Given the description of an element on the screen output the (x, y) to click on. 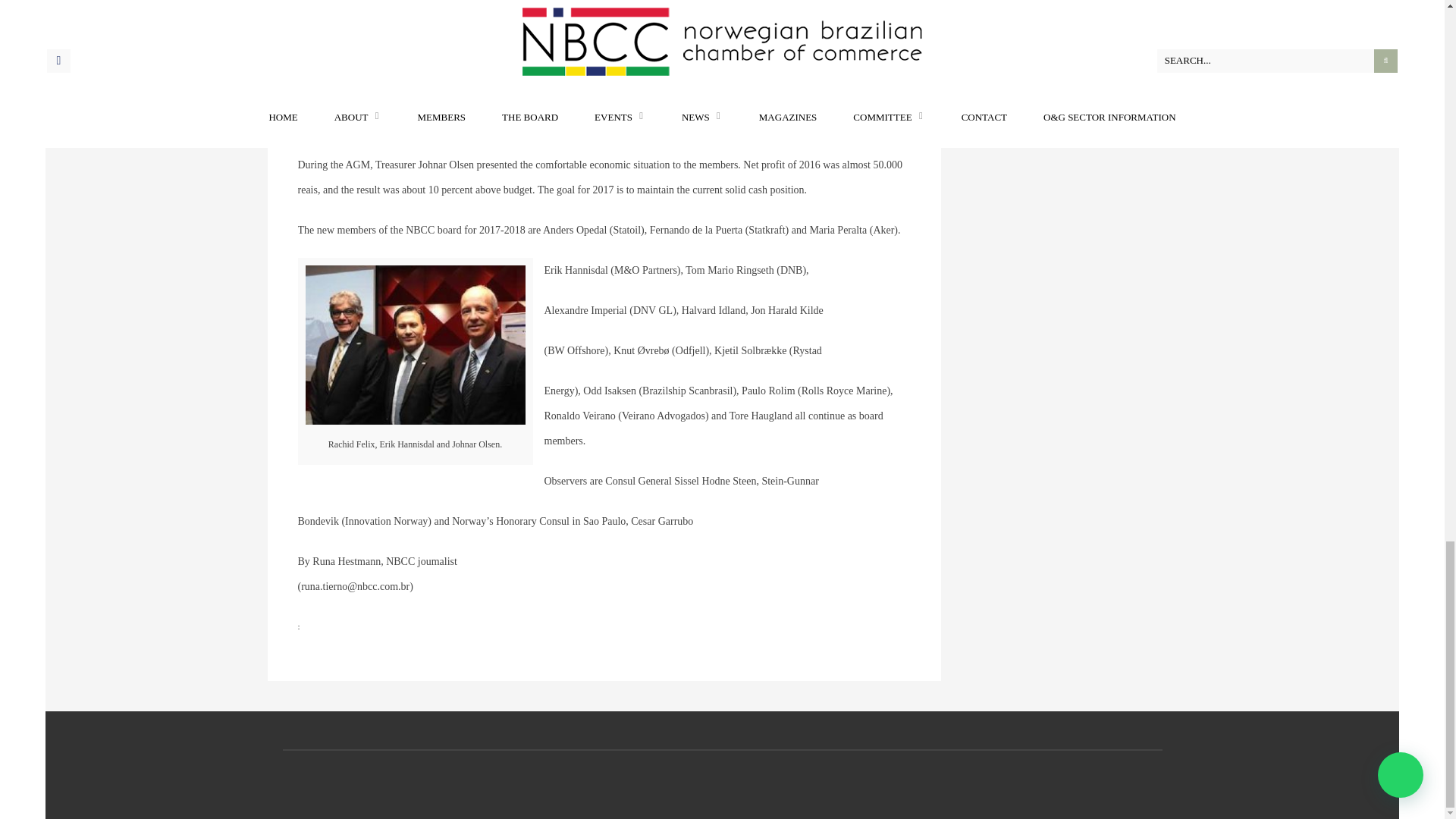
Rachid Felix, Erik Hannisdal and Johnar Olsen. (415, 344)
